Given the description of an element on the screen output the (x, y) to click on. 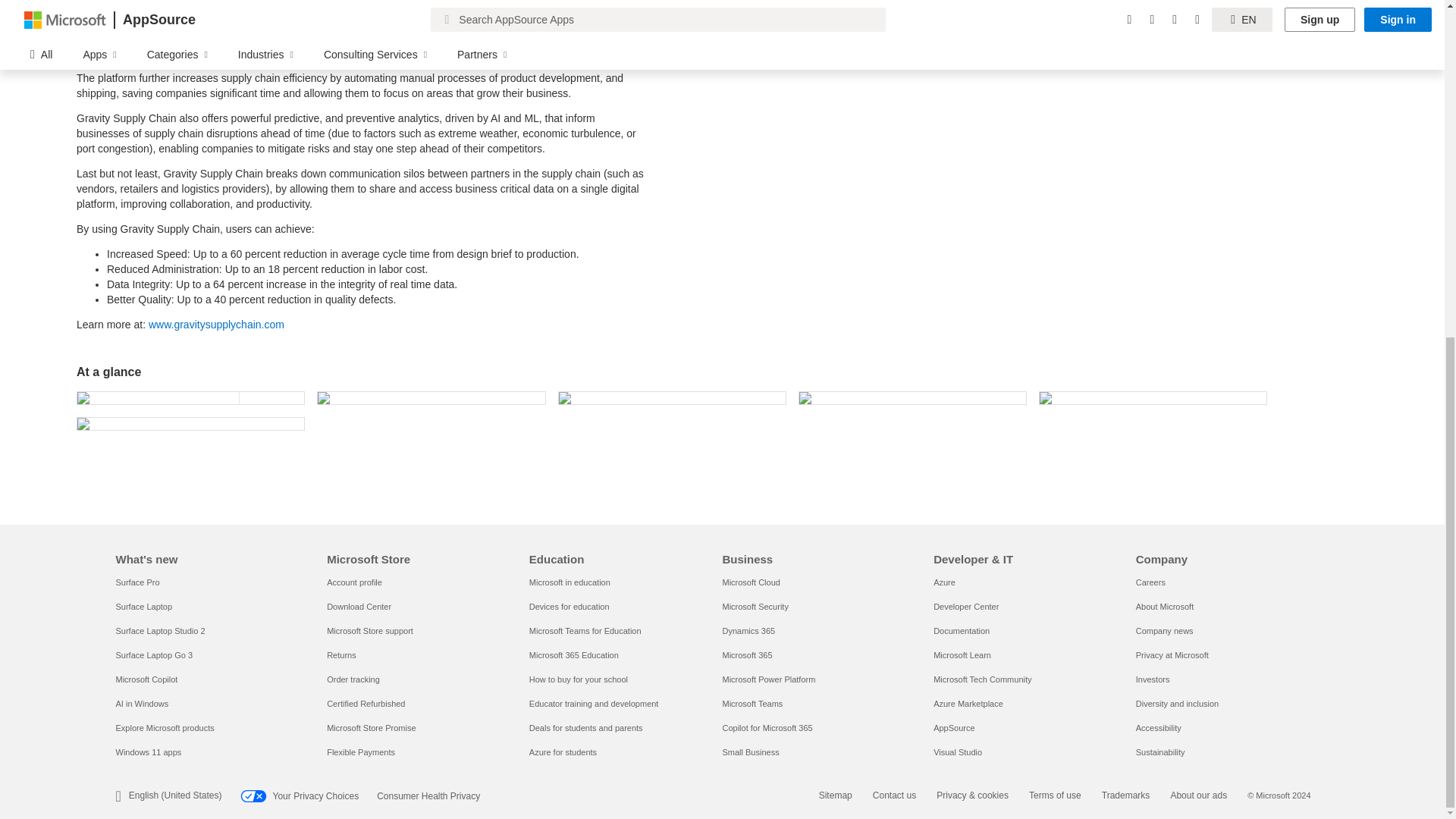
Surface Laptop Go 3 (153, 655)
Surface Pro (136, 582)
Microsoft Store support (369, 630)
AI in Windows (141, 703)
Explore Microsoft products (164, 727)
Surface Laptop Studio 2 (160, 630)
www.gravitysupplychain.com (214, 324)
Microsoft Copilot (146, 678)
Surface Laptop (143, 605)
Order tracking (353, 678)
